Given the description of an element on the screen output the (x, y) to click on. 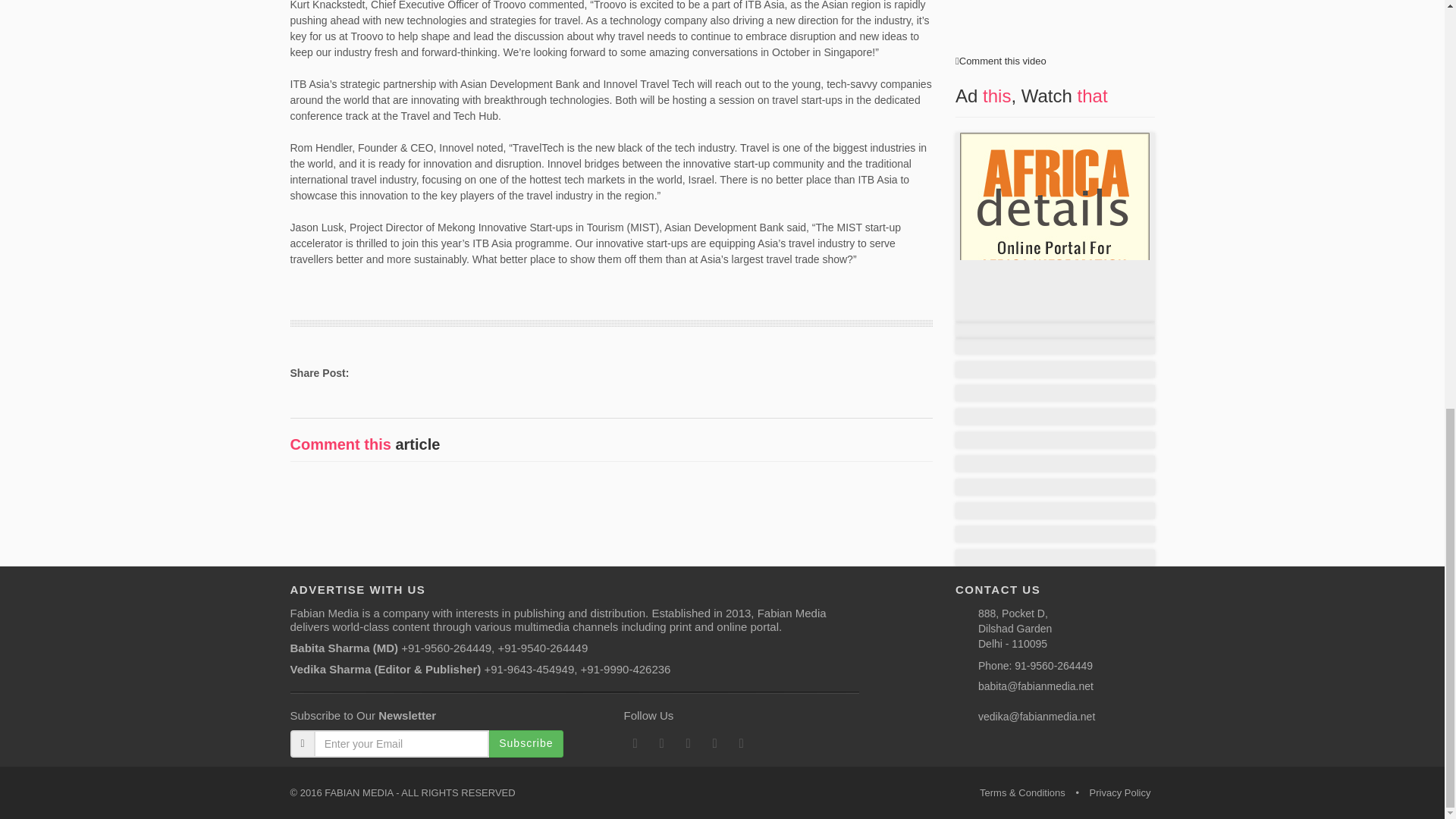
Comment this video (1002, 60)
Linkedin (687, 743)
YouTube (740, 743)
Twitter (661, 743)
Instagram (714, 743)
Facebook (634, 743)
